Given the description of an element on the screen output the (x, y) to click on. 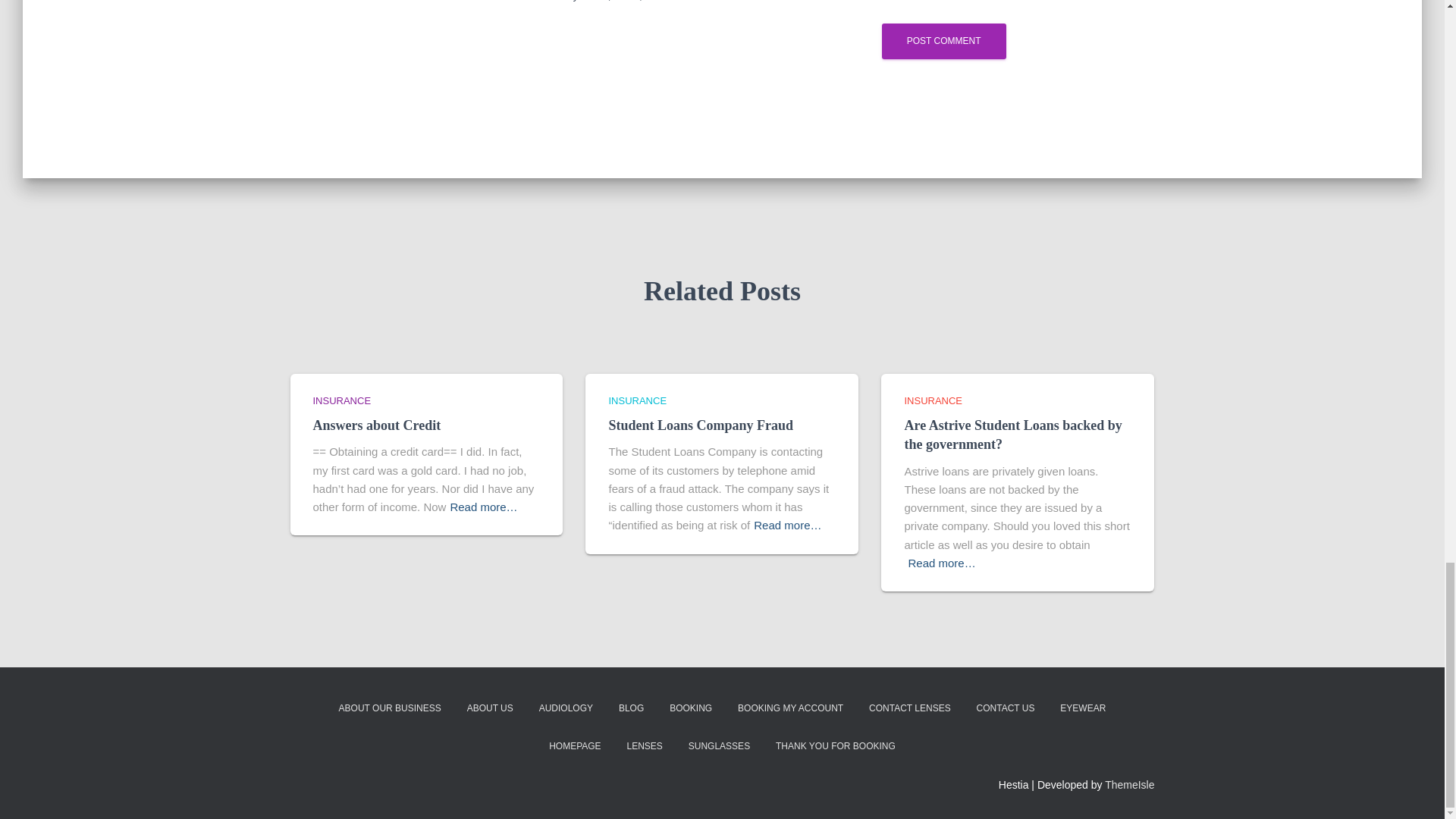
Answers about Credit (377, 425)
ABOUT US (489, 708)
INSURANCE (637, 400)
INSURANCE (933, 400)
Post Comment (944, 40)
Post Comment (944, 40)
Are Astrive Student Loans backed by the government? (1012, 434)
View all posts in Insurance (342, 400)
Answers about Credit (377, 425)
INSURANCE (342, 400)
BOOKING (690, 708)
ABOUT OUR BUSINESS (389, 708)
Student Loans Company Fraud (700, 425)
View all posts in Insurance (637, 400)
BLOG (631, 708)
